Given the description of an element on the screen output the (x, y) to click on. 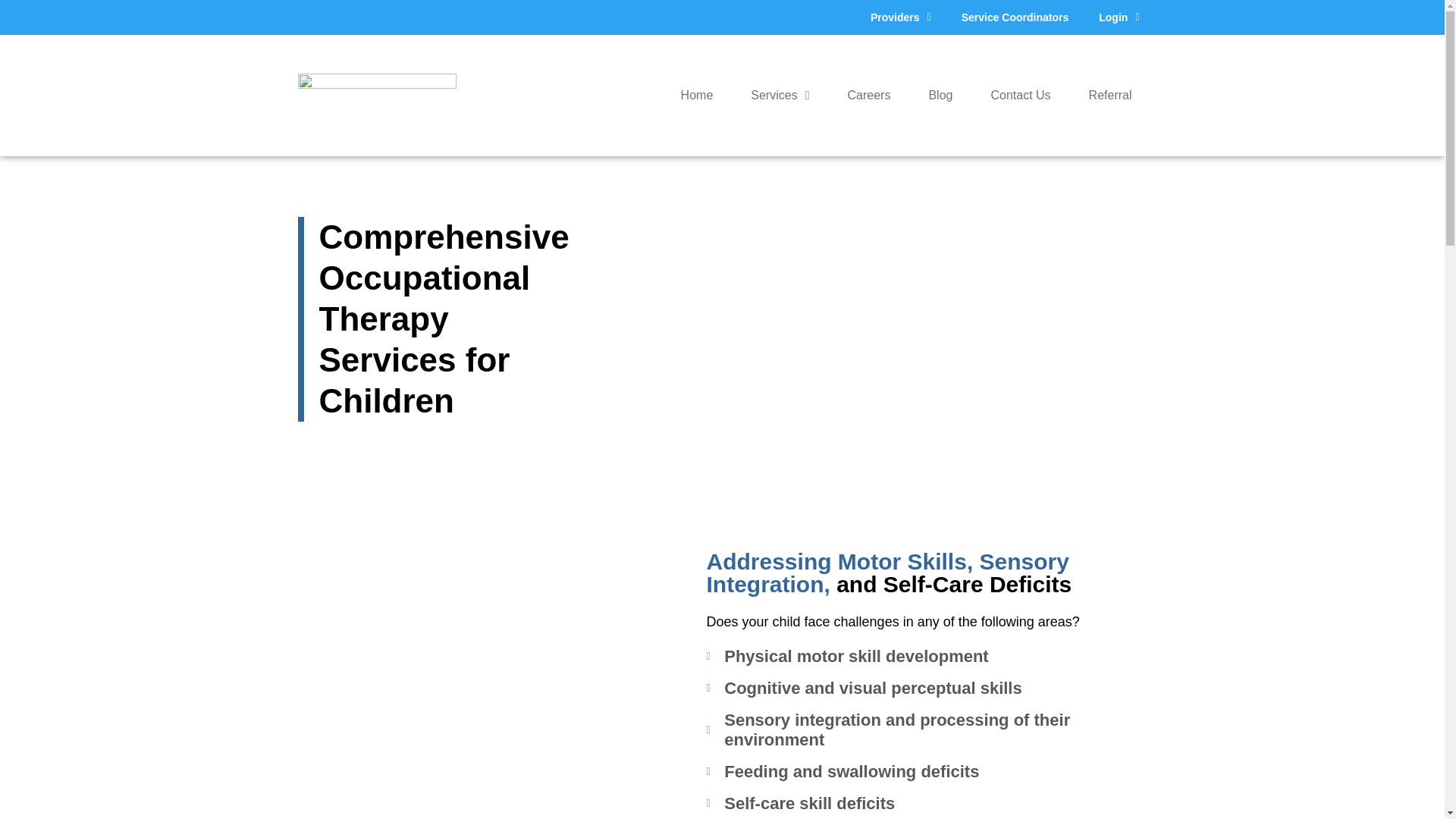
Blog (940, 95)
Referral (1110, 95)
Careers (868, 95)
Contact Us (1020, 95)
Service Coordinators (1015, 17)
Home (697, 95)
Services (779, 95)
Login (1118, 17)
Providers (901, 17)
